Given the description of an element on the screen output the (x, y) to click on. 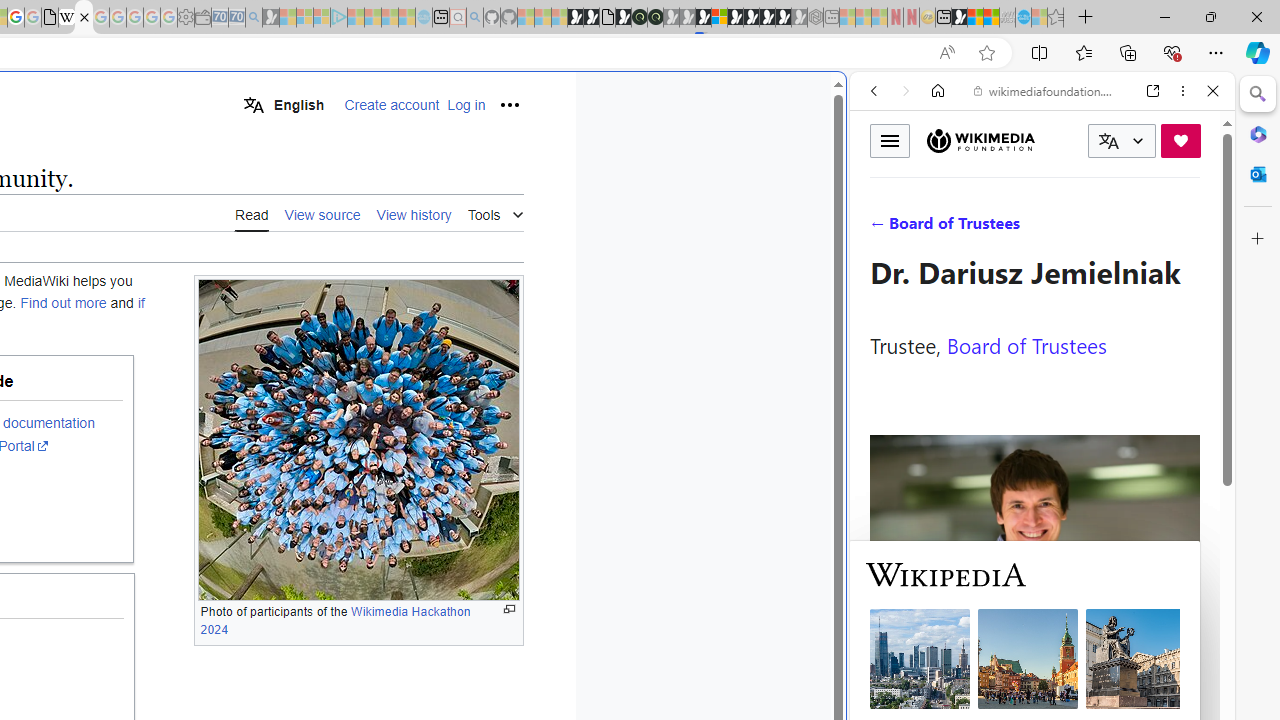
English (283, 104)
Future Focus Report 2024 (655, 17)
Open link in new tab (1153, 91)
Cheap Car Rentals - Save70.com - Sleeping (236, 17)
Search Filter, WEB (882, 228)
